Given the description of an element on the screen output the (x, y) to click on. 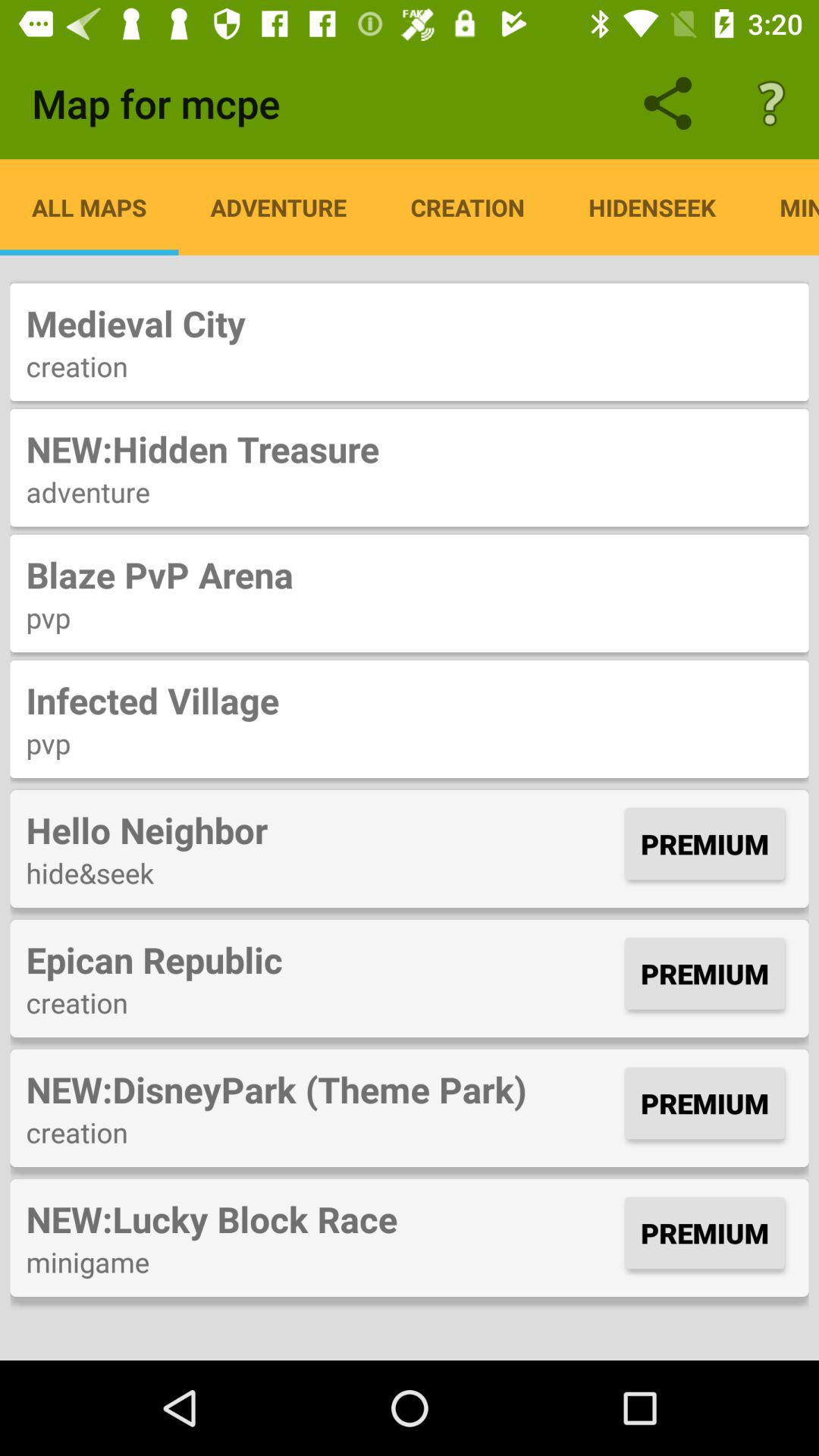
select item to the left of premium (321, 829)
